Given the description of an element on the screen output the (x, y) to click on. 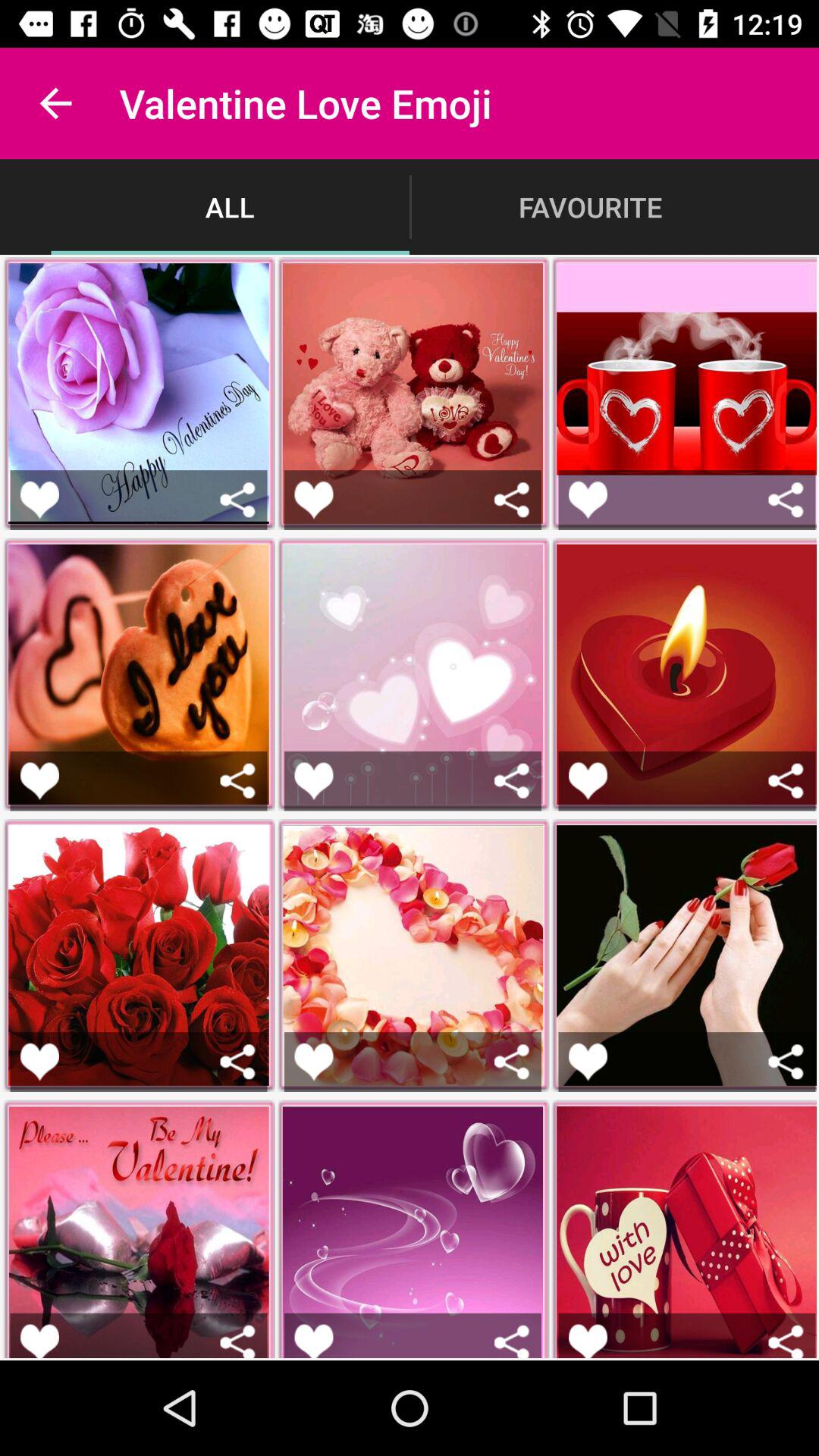
share the emoji or sticker (237, 780)
